Given the description of an element on the screen output the (x, y) to click on. 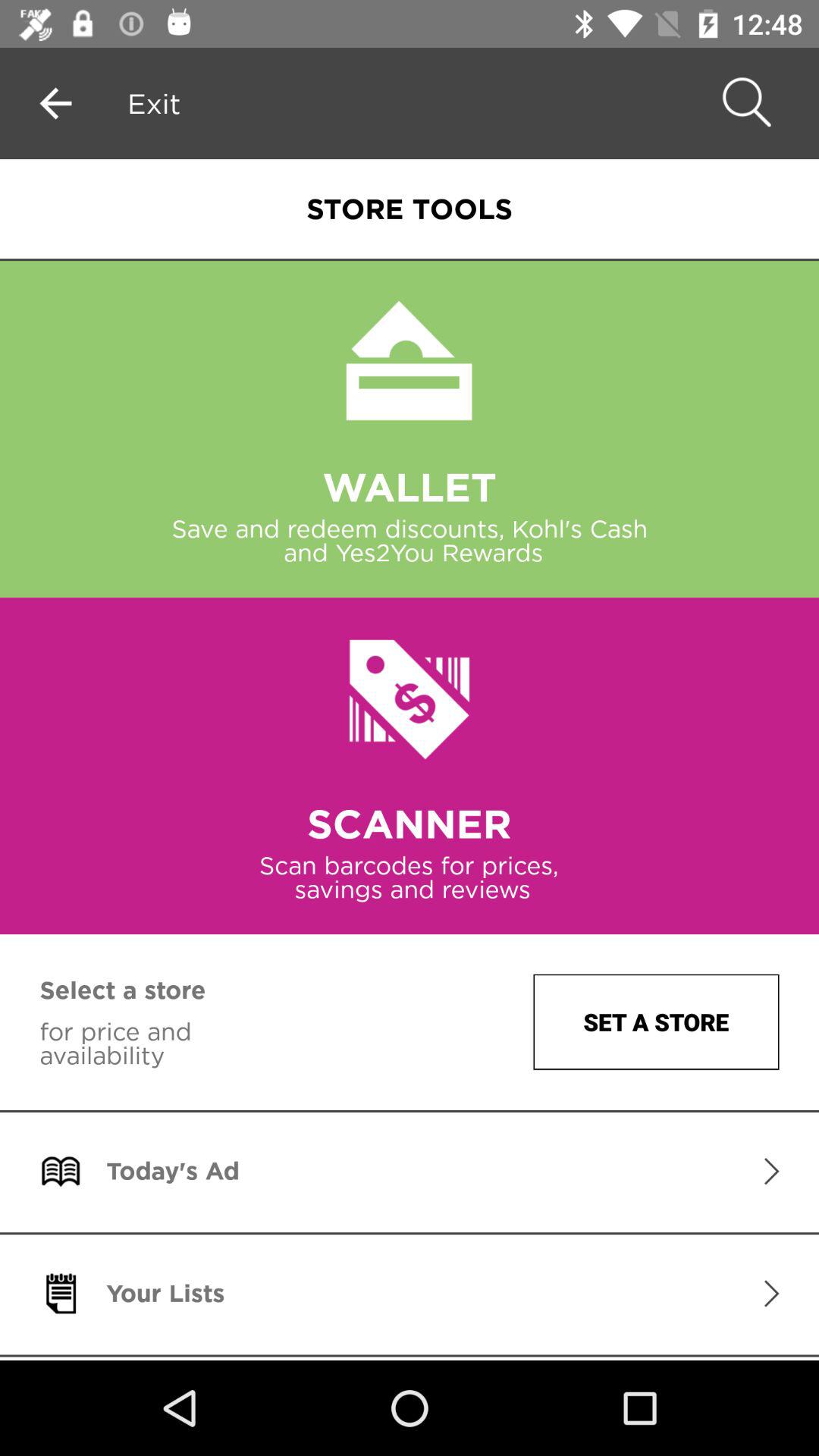
search for items (744, 103)
